Given the description of an element on the screen output the (x, y) to click on. 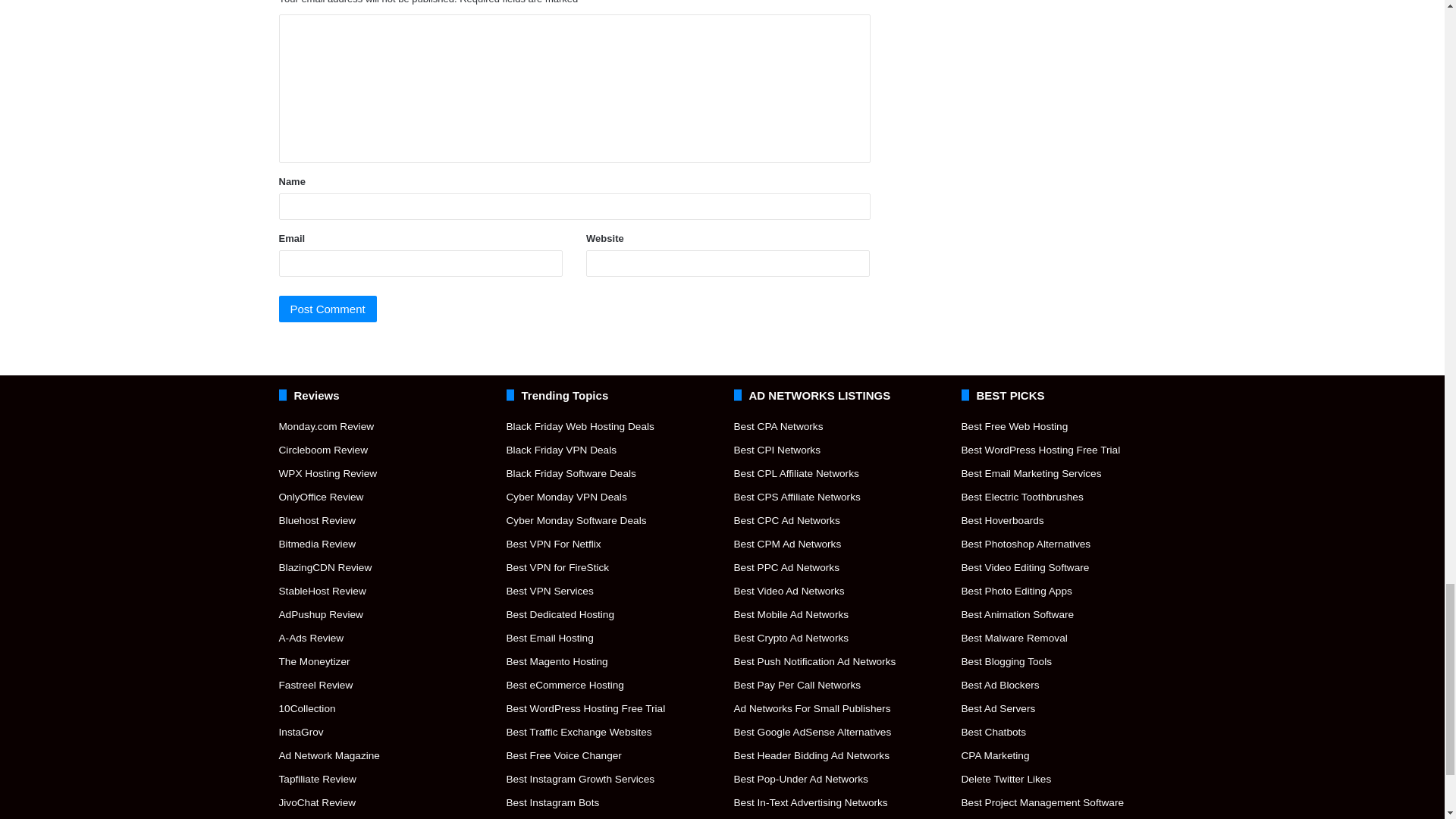
Post Comment (328, 308)
